Given the description of an element on the screen output the (x, y) to click on. 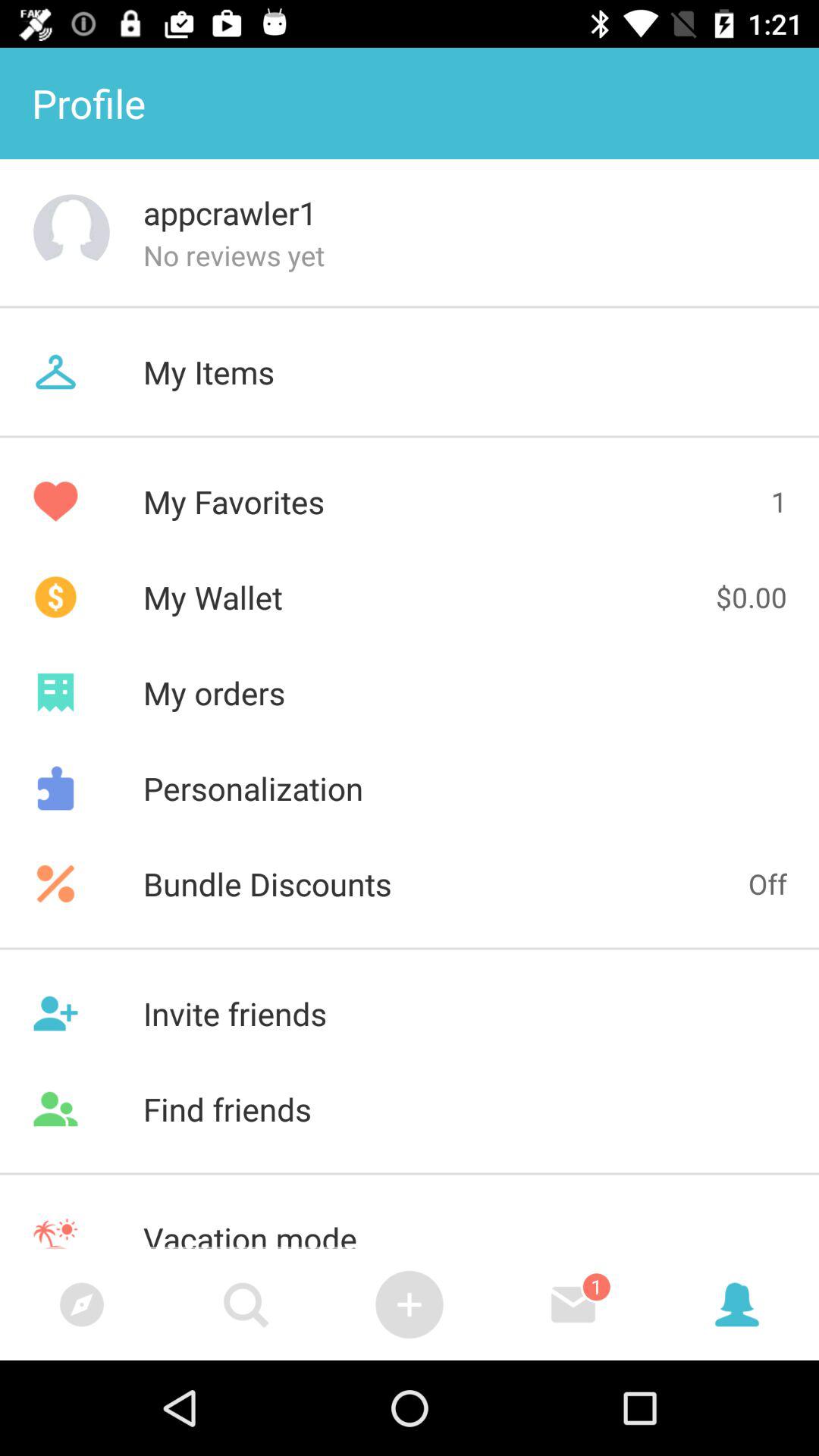
jump until the invite friends (409, 1013)
